Given the description of an element on the screen output the (x, y) to click on. 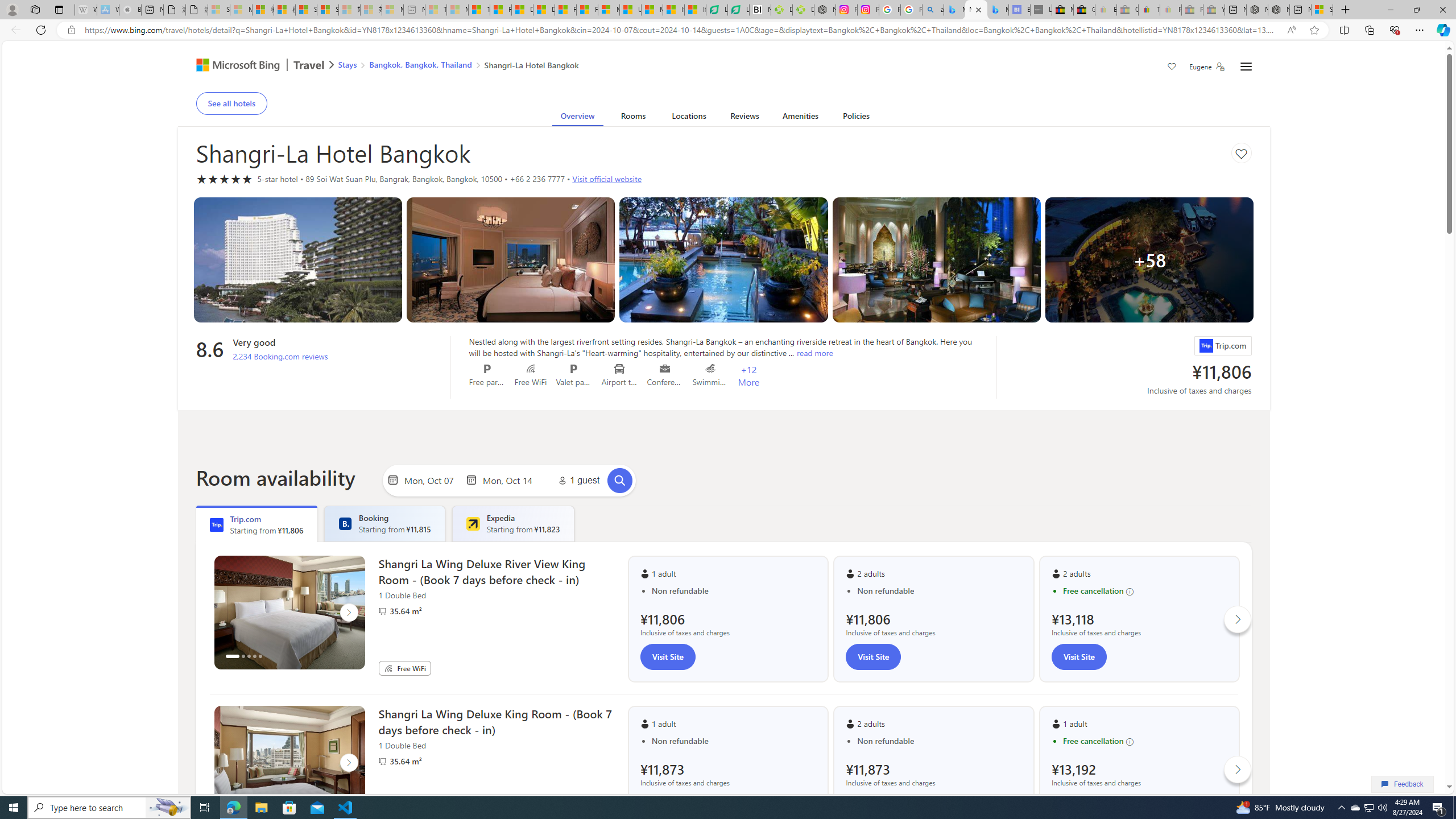
Nvidia va a poner a prueba la paciencia de los inversores (760, 9)
Click to scroll right (1238, 768)
Free cancellation (1144, 740)
Class: trvl-hub-header (723, 65)
Trip.com (1205, 345)
Save to collections (1241, 152)
TripDotCom (216, 524)
